Given the description of an element on the screen output the (x, y) to click on. 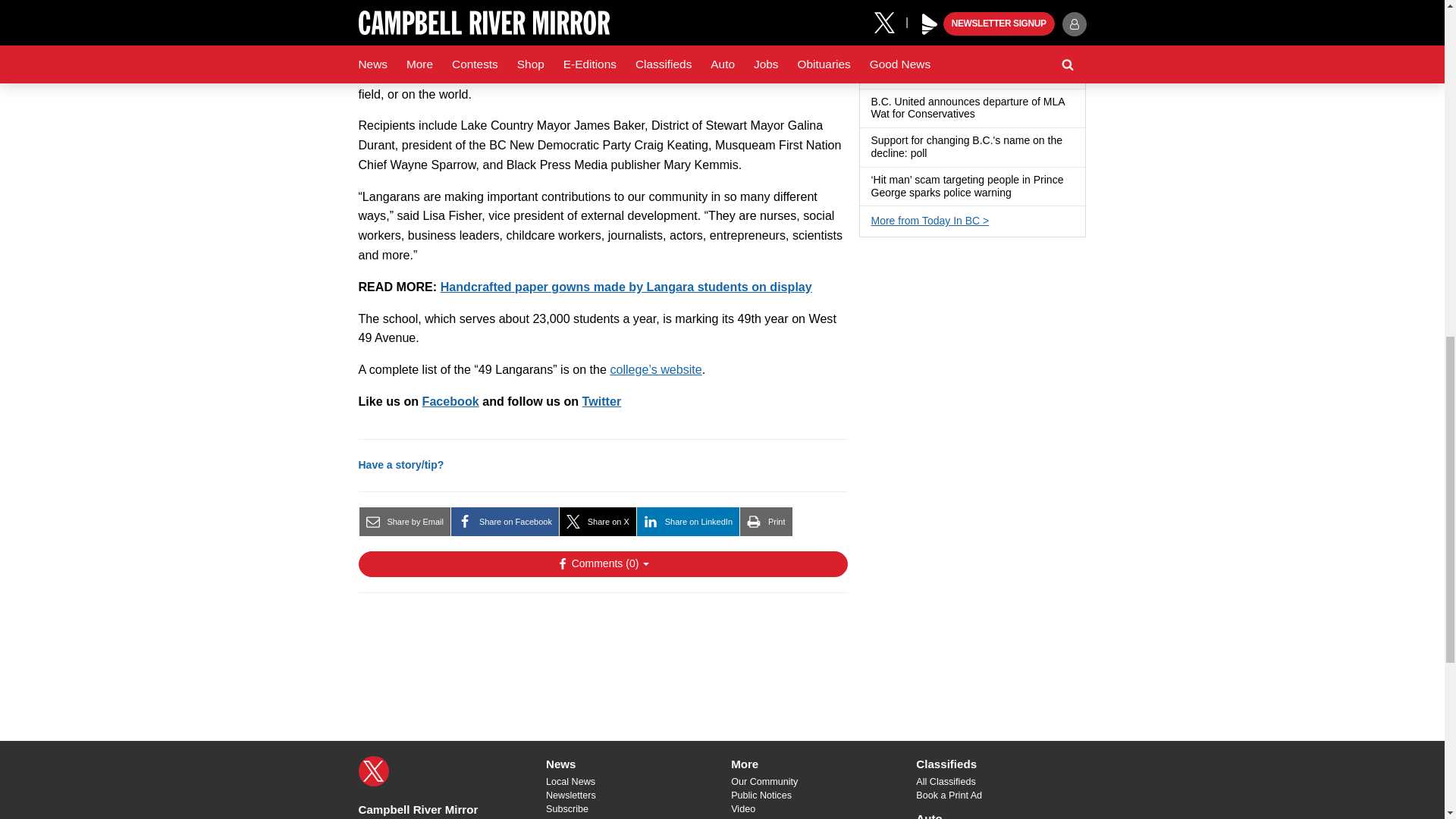
Has a gallery (984, 36)
Show Comments (602, 564)
X (373, 770)
